Given the description of an element on the screen output the (x, y) to click on. 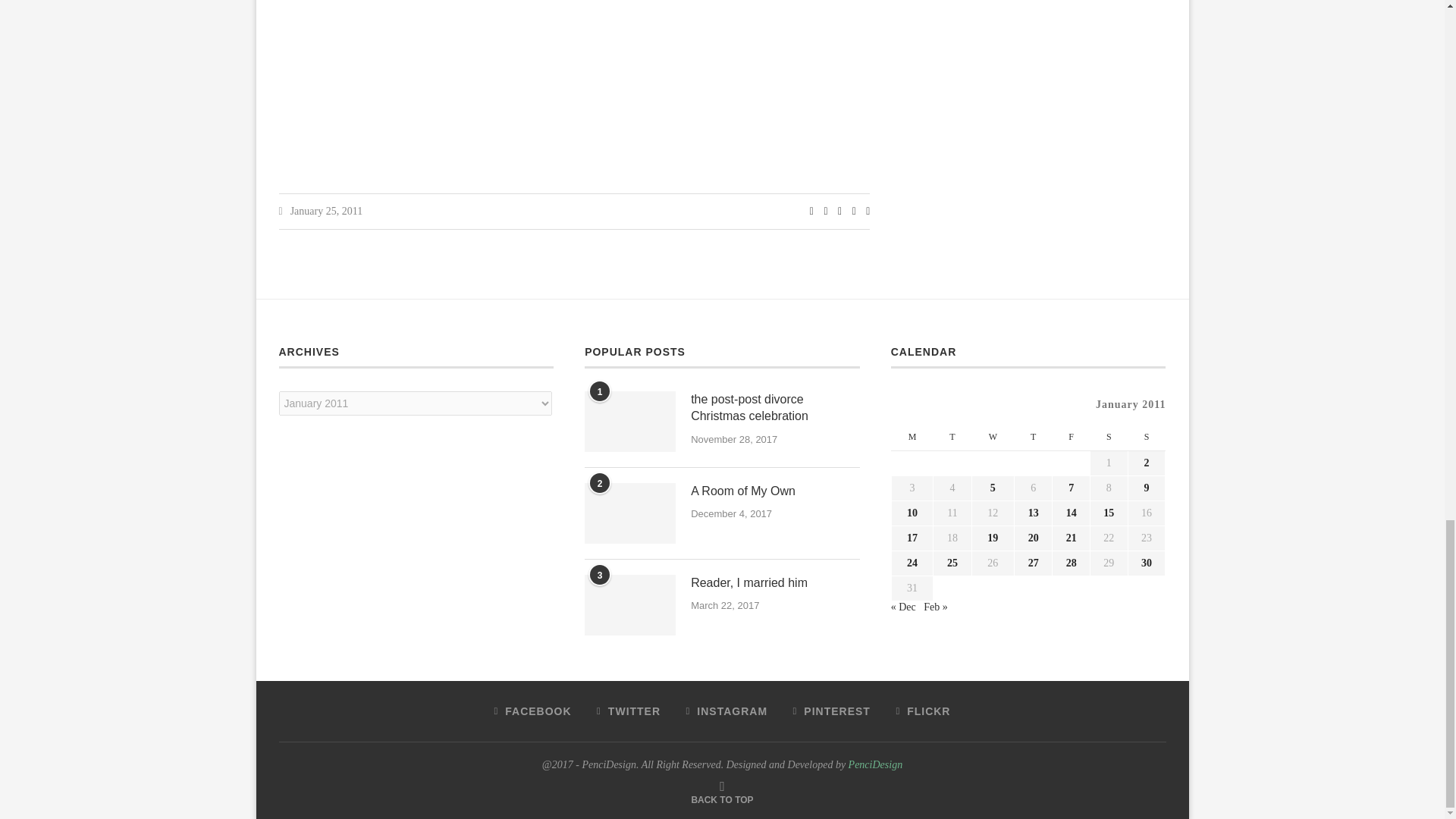
the post-post divorce Christmas celebration (630, 421)
the post-post divorce Christmas celebration (775, 408)
A Room of My Own (630, 513)
